Given the description of an element on the screen output the (x, y) to click on. 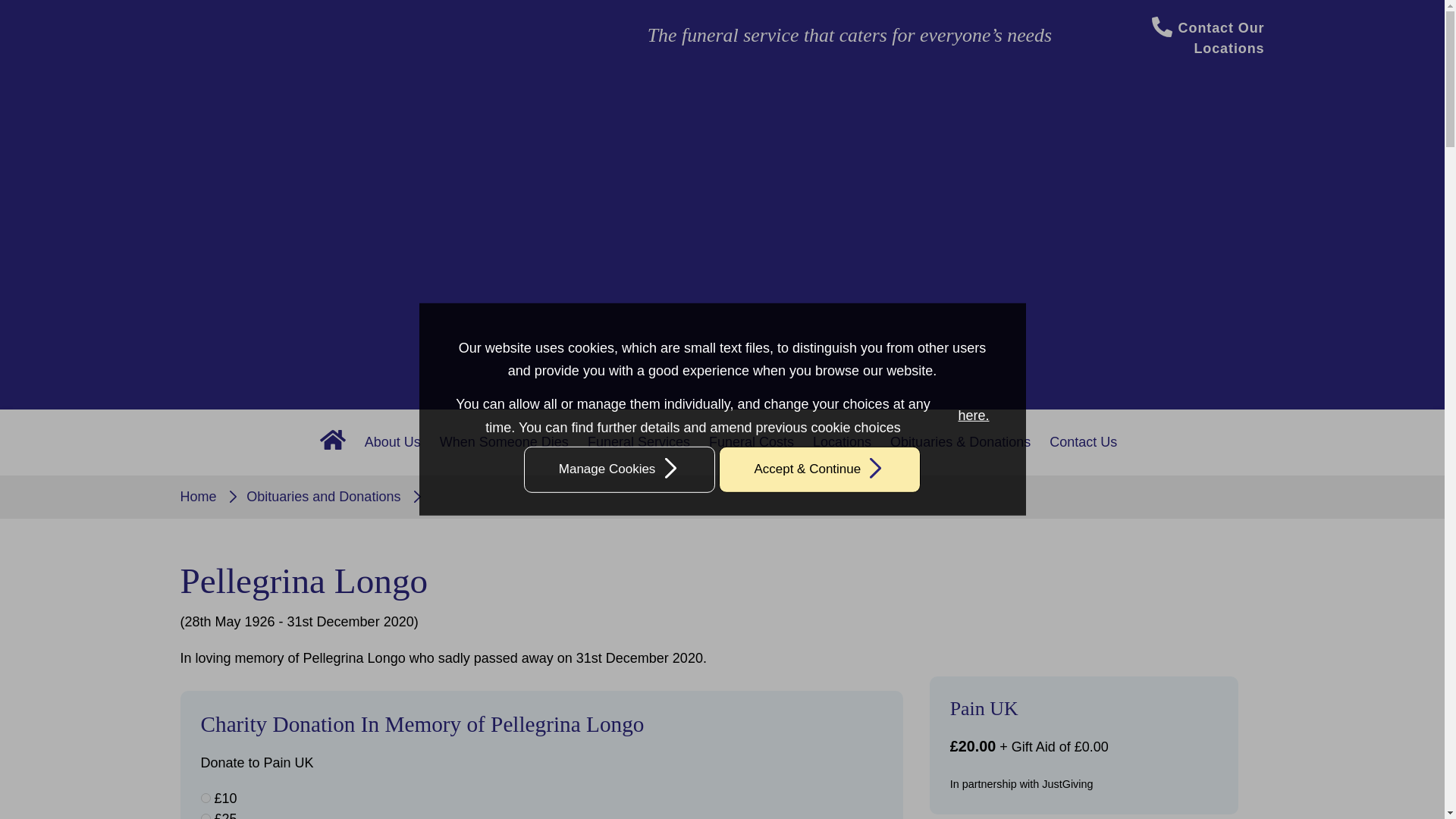
Funeral Services (638, 442)
Contact Our Locations (1208, 37)
About Us (392, 442)
25 (204, 816)
When Someone Dies (504, 442)
10 (204, 798)
Funeral Costs (751, 442)
